Given the description of an element on the screen output the (x, y) to click on. 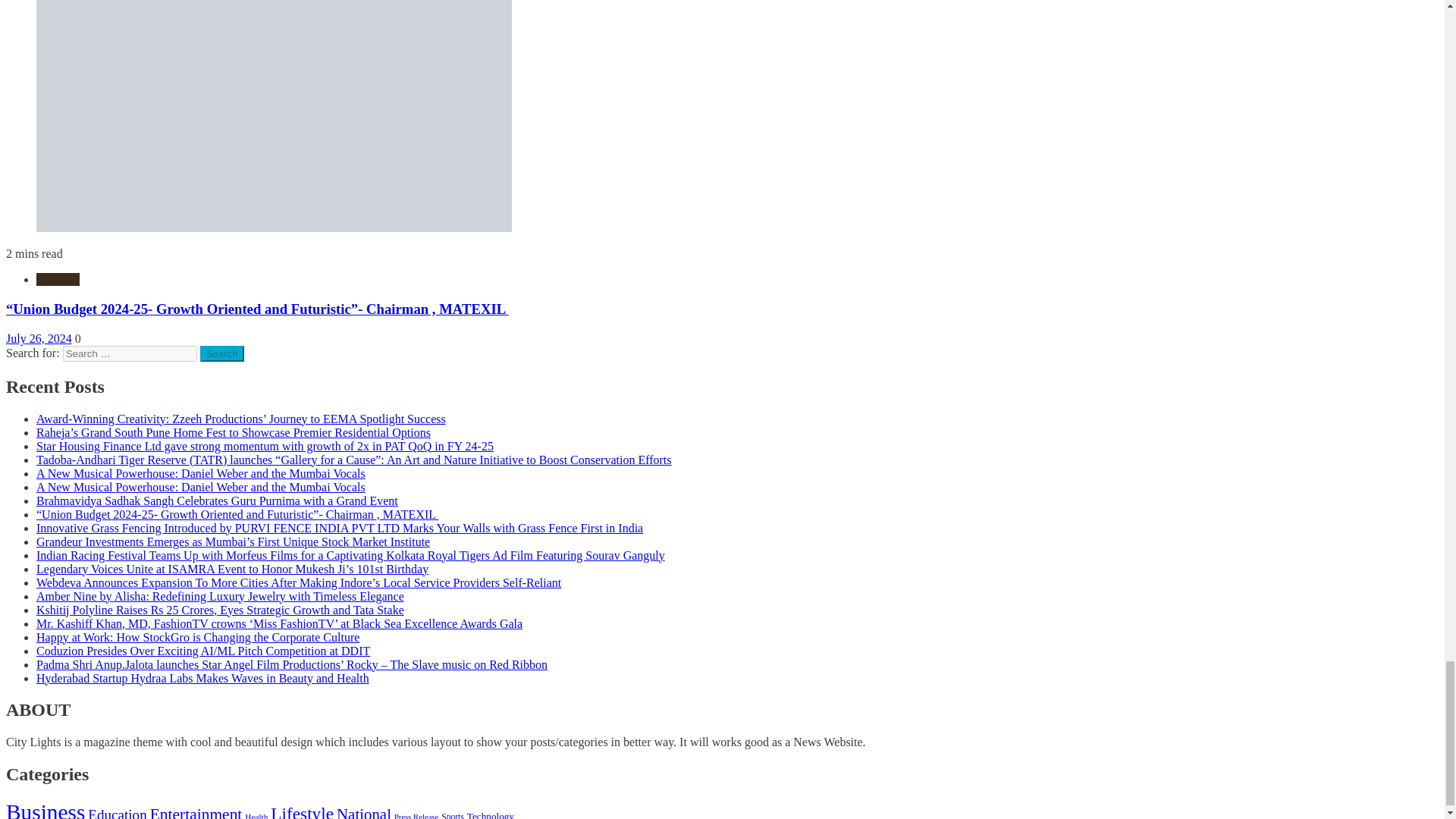
Search (222, 353)
Search (222, 353)
July 26, 2024 (38, 338)
Search (222, 353)
Business (58, 278)
